Given the description of an element on the screen output the (x, y) to click on. 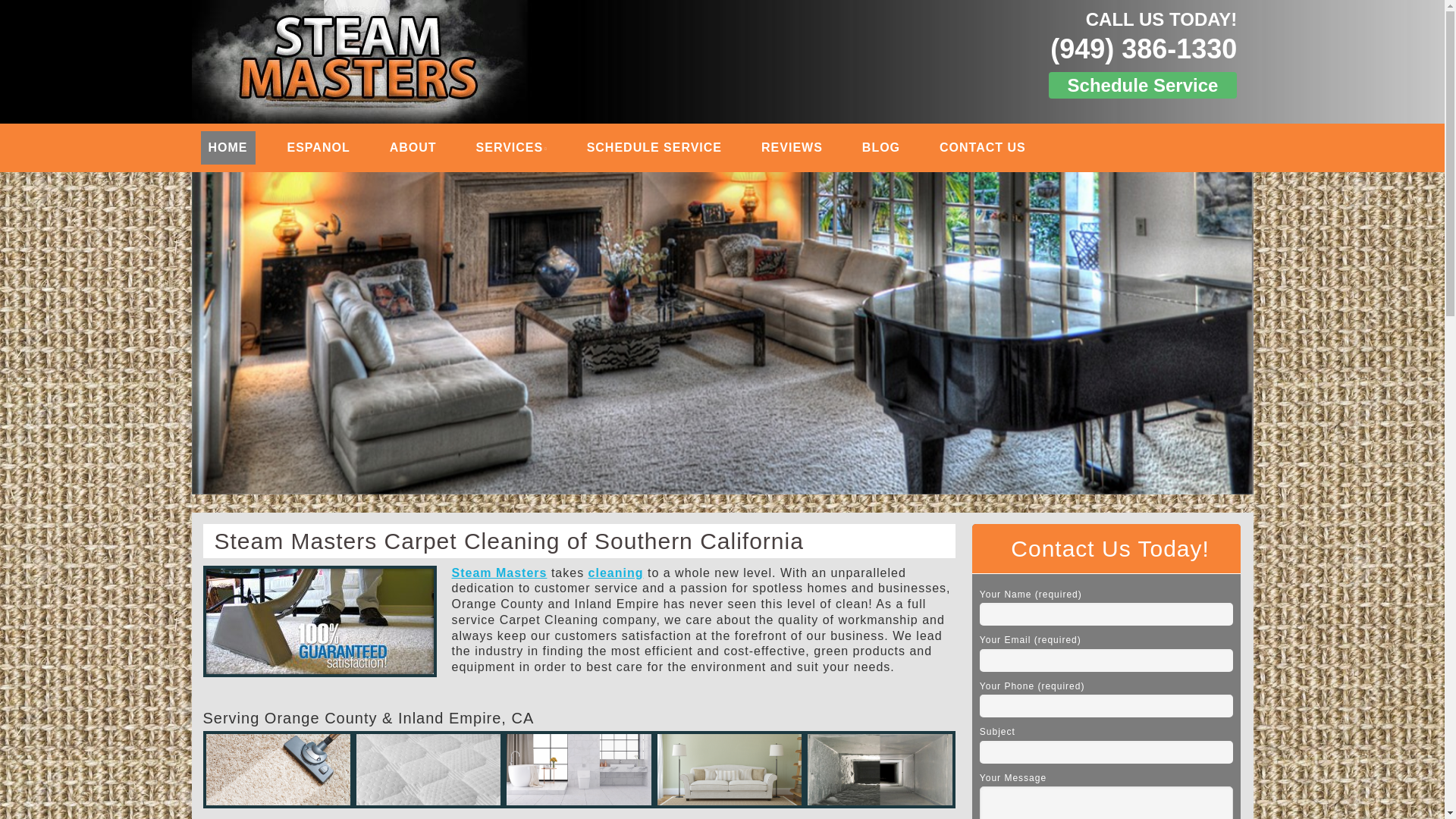
Steam Masters (499, 571)
CONTACT US (982, 147)
Orange County Steam Masters (454, 32)
HOME (227, 147)
BLOG (880, 147)
REVIEWS (791, 147)
ABOUT (412, 147)
ESPANOL (317, 147)
ORANGE COUNTY STEAM MASTERS (454, 32)
SERVICES (511, 147)
SCHEDULE SERVICE (654, 147)
cleaning (615, 571)
Schedule Service (1142, 85)
